Given the description of an element on the screen output the (x, y) to click on. 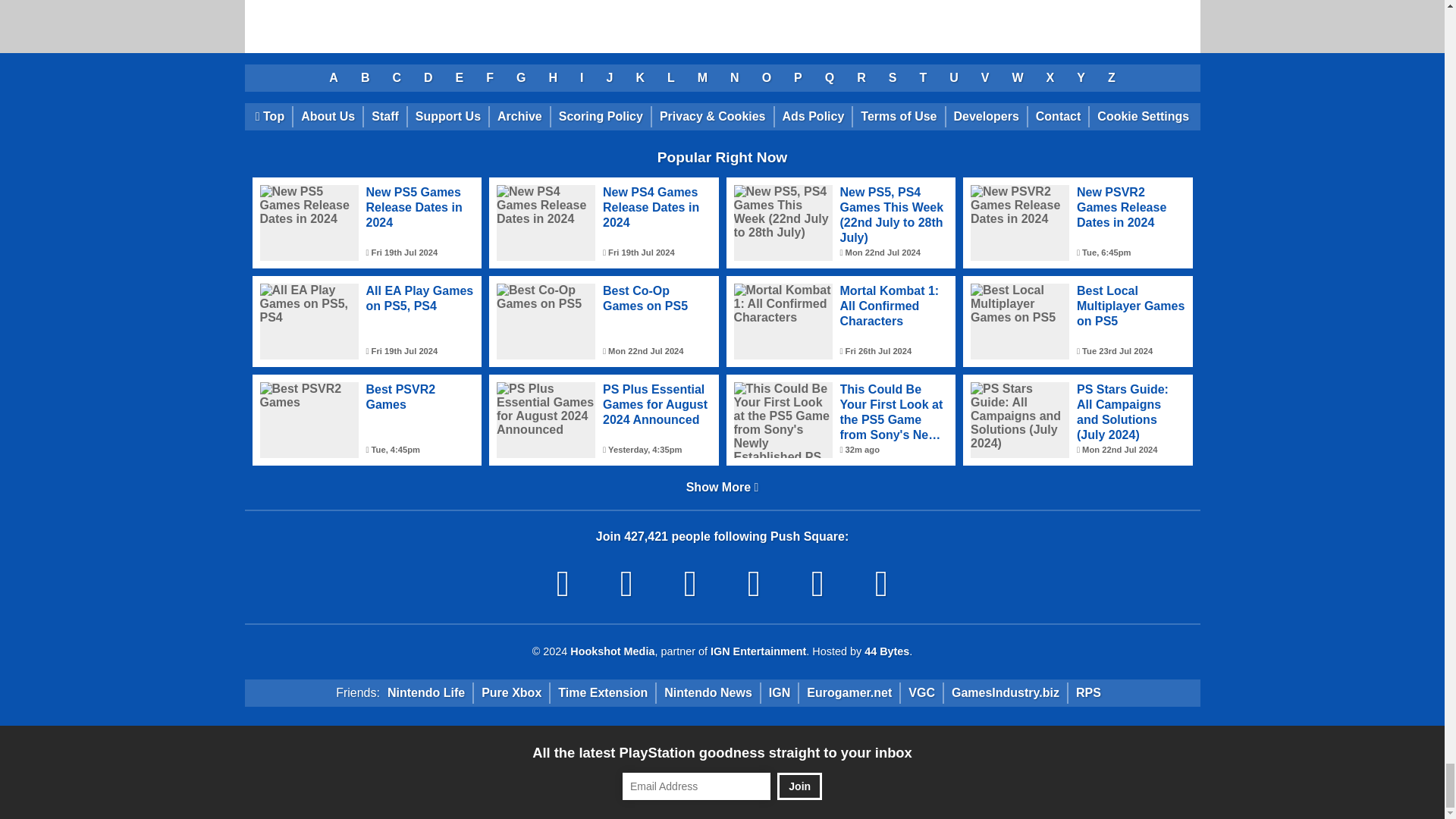
Join (799, 786)
